Given the description of an element on the screen output the (x, y) to click on. 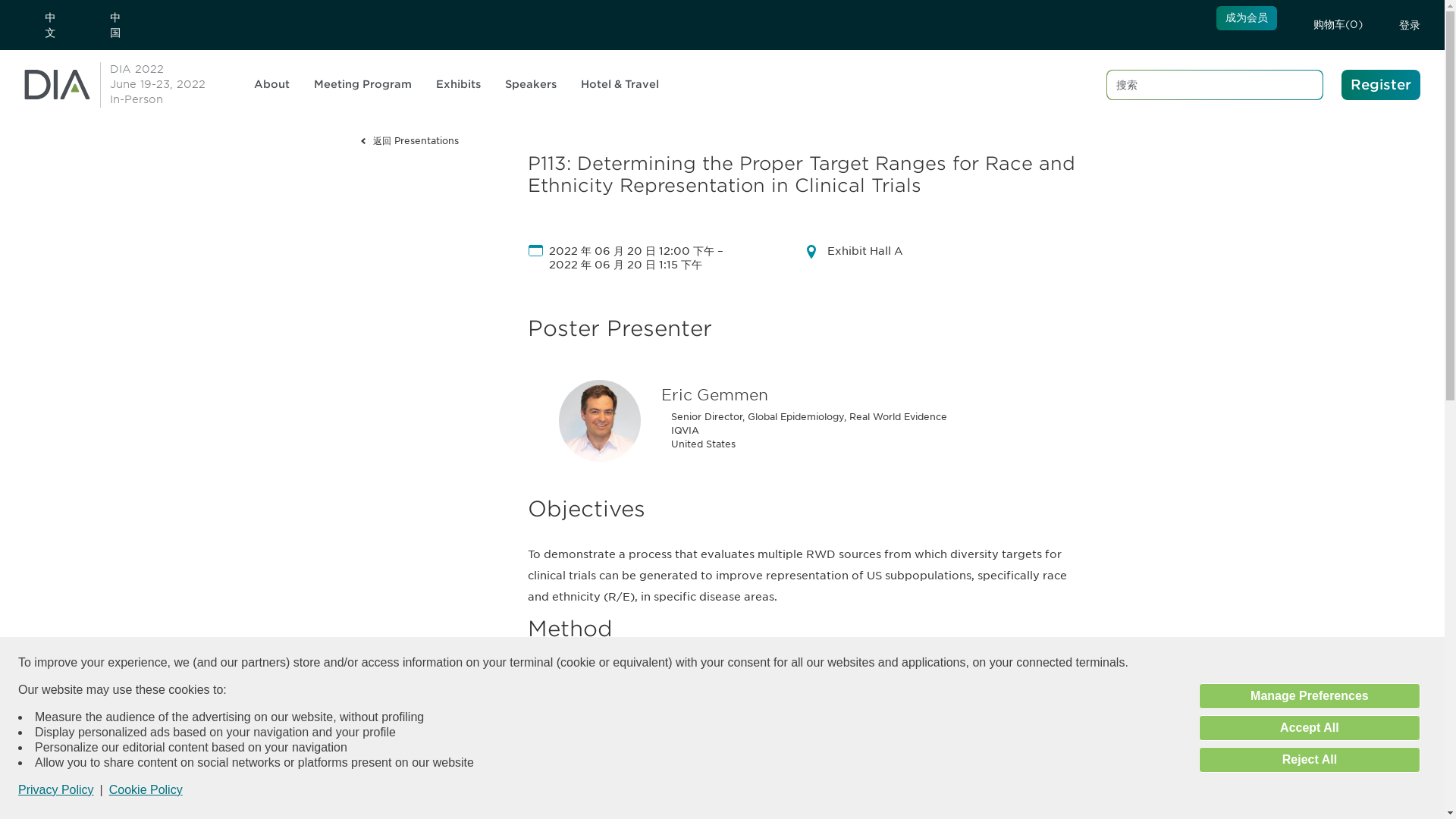
Manage Preferences (1309, 696)
Cookie Policy (146, 789)
Exhibits (464, 84)
About (277, 84)
Register (1380, 84)
Reject All (1309, 759)
Meeting Program (157, 84)
Accept All (368, 84)
Speakers (1309, 727)
Privacy Policy (537, 84)
